Given the description of an element on the screen output the (x, y) to click on. 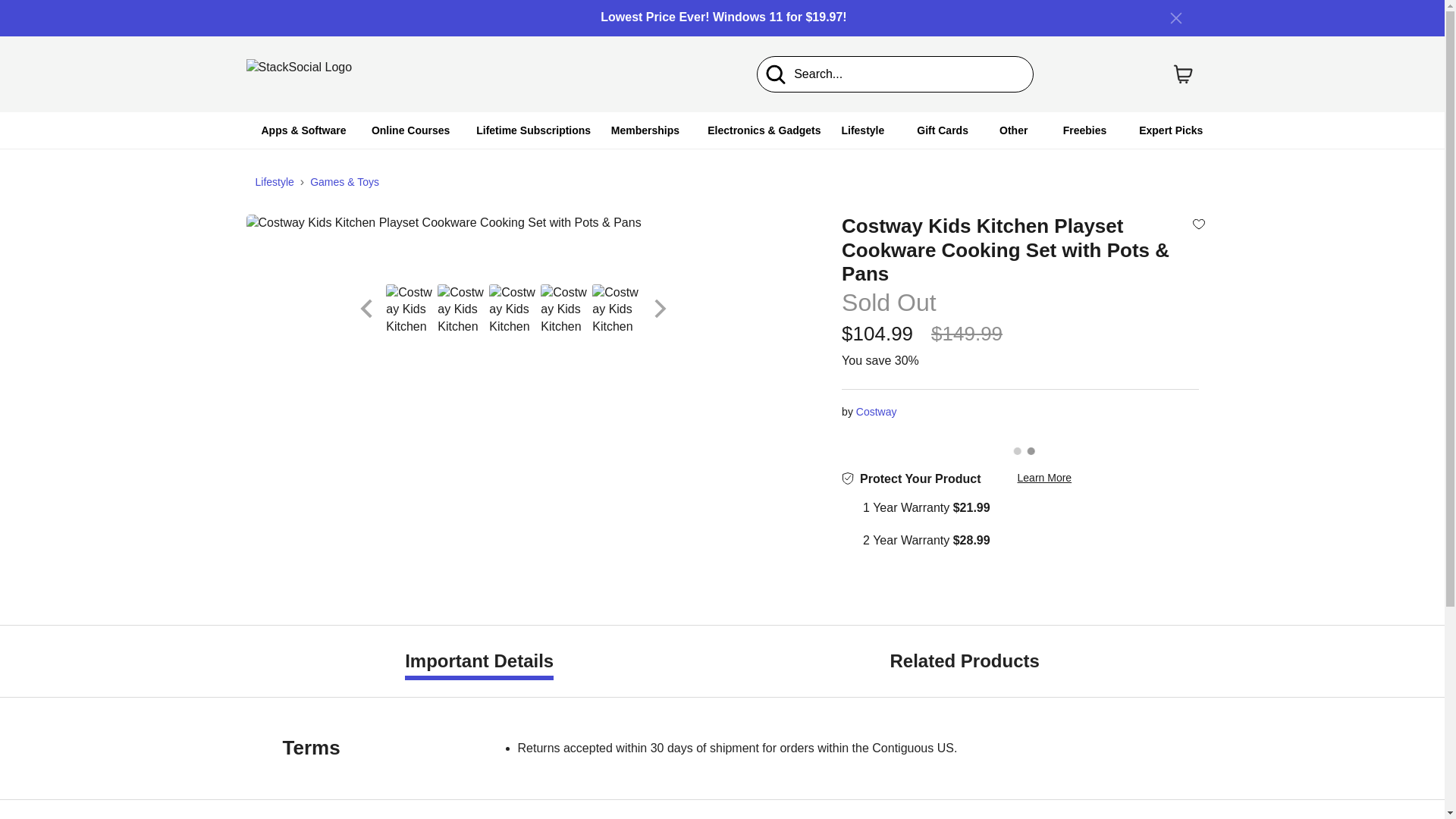
Add to wishlist (1198, 223)
